Given the description of an element on the screen output the (x, y) to click on. 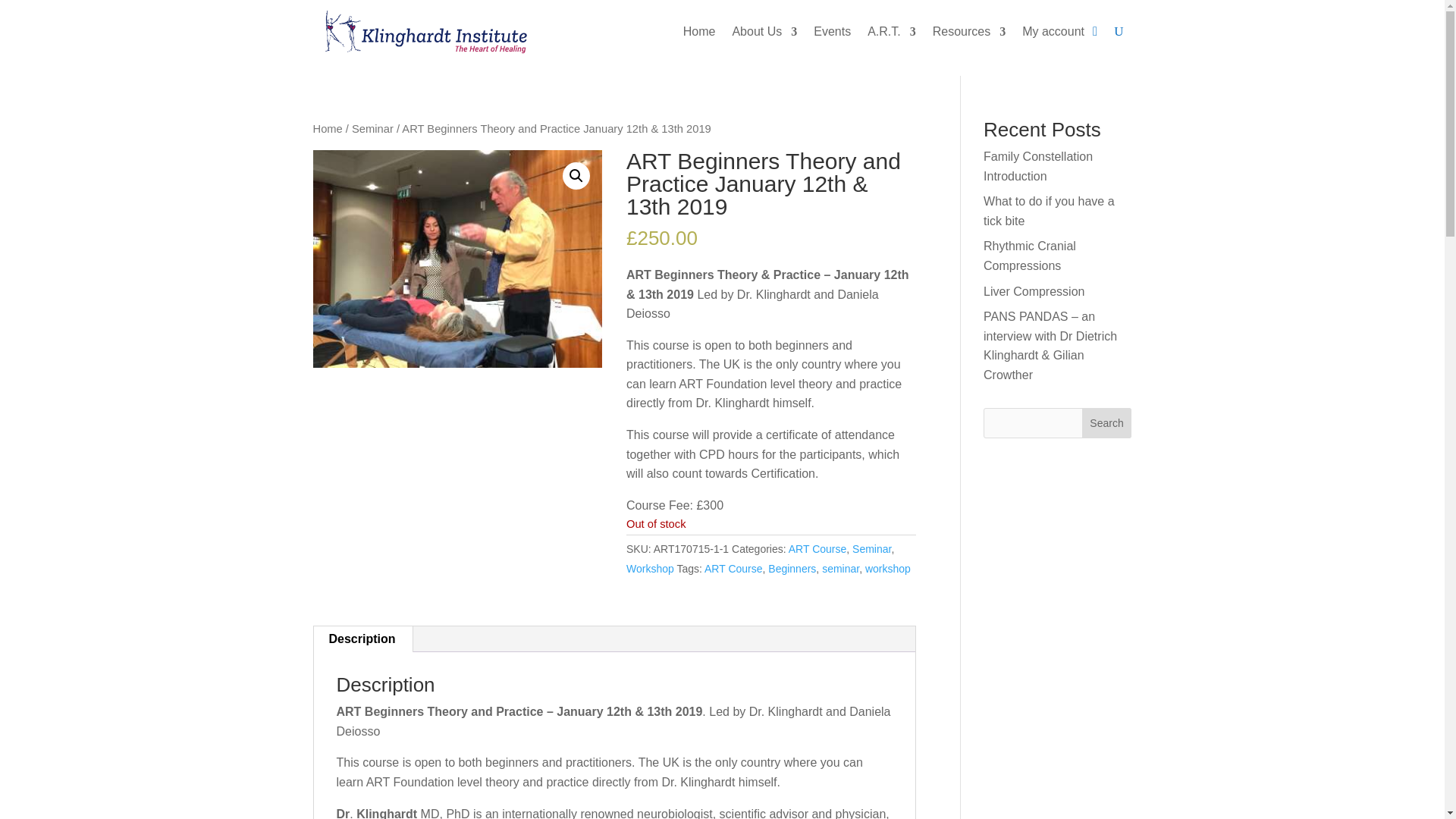
About Us (764, 31)
Resources (969, 31)
My account (1053, 31)
ART1 (457, 257)
